Given the description of an element on the screen output the (x, y) to click on. 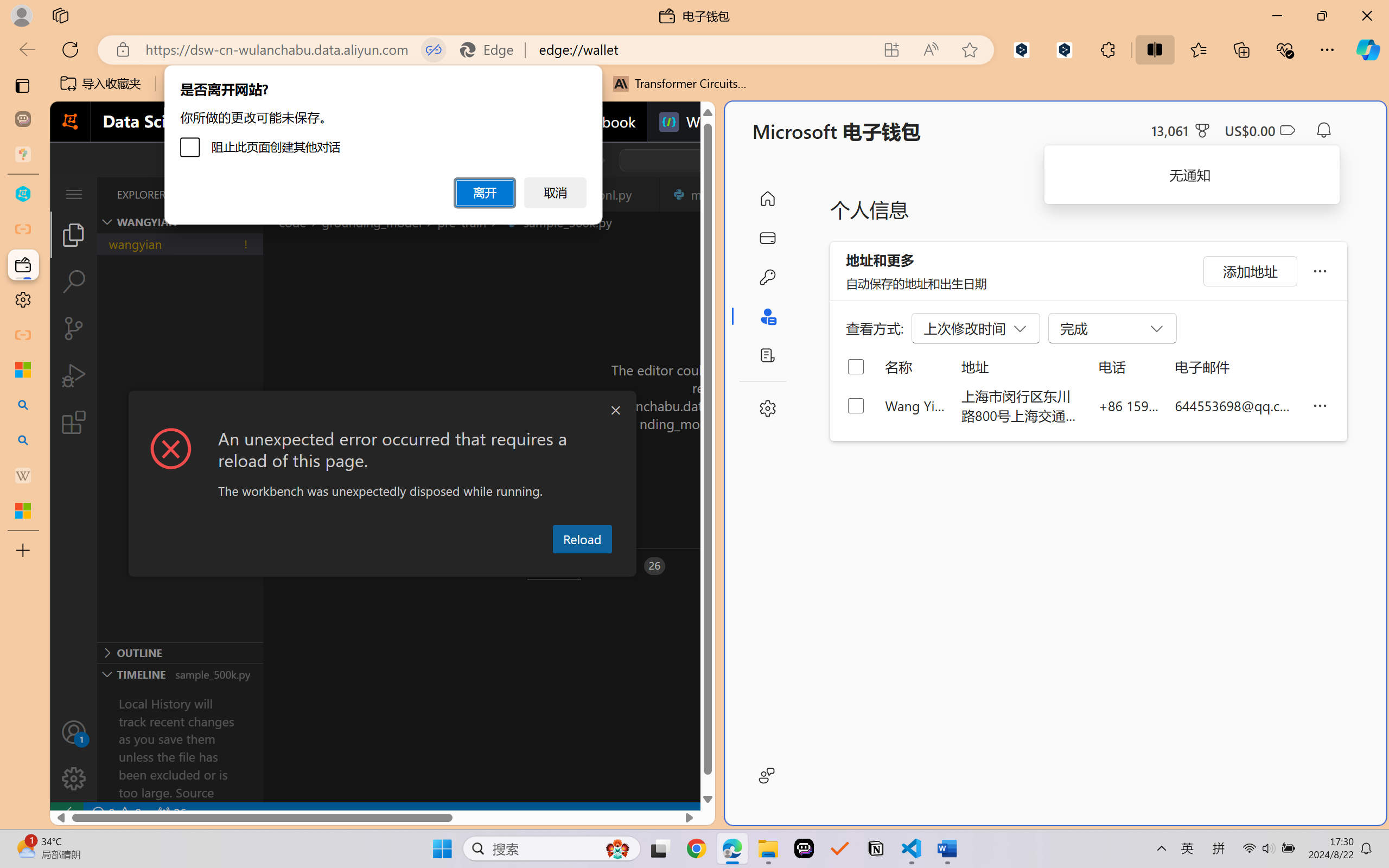
No Problems (115, 812)
Class: menubar compact overflow-menu-only (73, 194)
Application Menu (73, 194)
Copilot (Ctrl+Shift+.) (1368, 49)
